Given the description of an element on the screen output the (x, y) to click on. 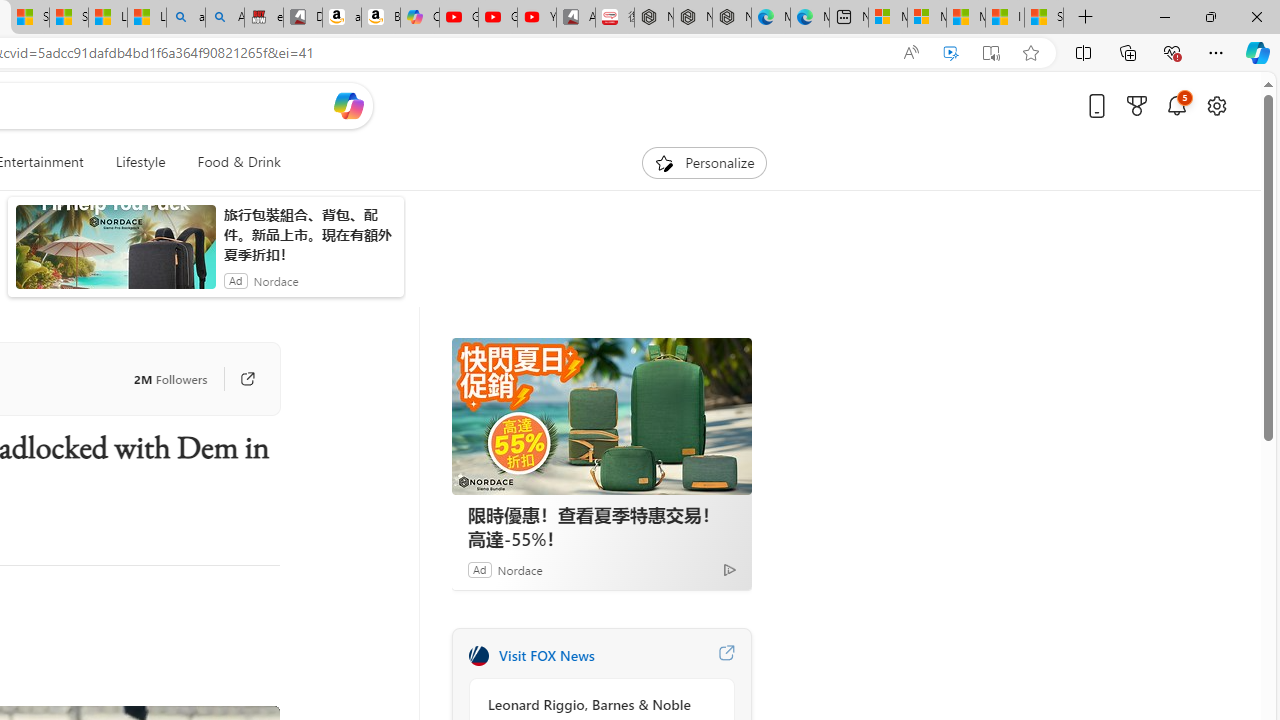
Lifestyle (140, 162)
Food & Drink (230, 162)
Food & Drink (239, 162)
Personalize (703, 162)
Notifications (1176, 105)
Enter Immersive Reader (F9) (991, 53)
Open settings (1216, 105)
anim-content (115, 255)
All Cubot phones (575, 17)
